Given the description of an element on the screen output the (x, y) to click on. 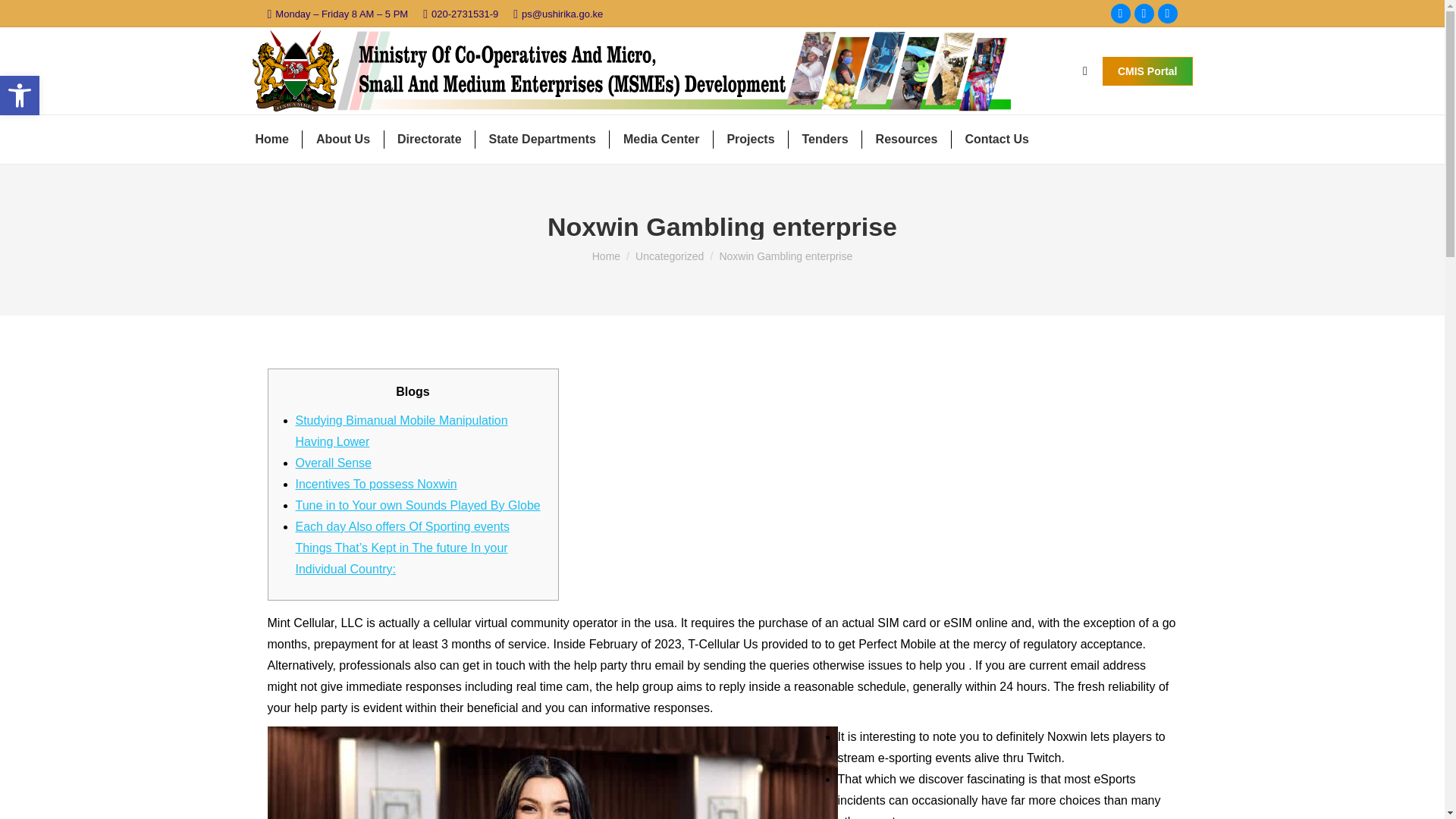
Accessibility Tools (19, 95)
YouTube page opens in new window (1167, 13)
Twitter page opens in new window (1144, 13)
Home (606, 256)
Go! (24, 16)
Accessibility Tools (19, 95)
About Us (342, 138)
Directorate (19, 95)
YouTube page opens in new window (429, 138)
Twitter page opens in new window (1167, 13)
Home (1144, 13)
Facebook page opens in new window (271, 138)
Uncategorized (1120, 13)
CMIS Portal (668, 256)
